Given the description of an element on the screen output the (x, y) to click on. 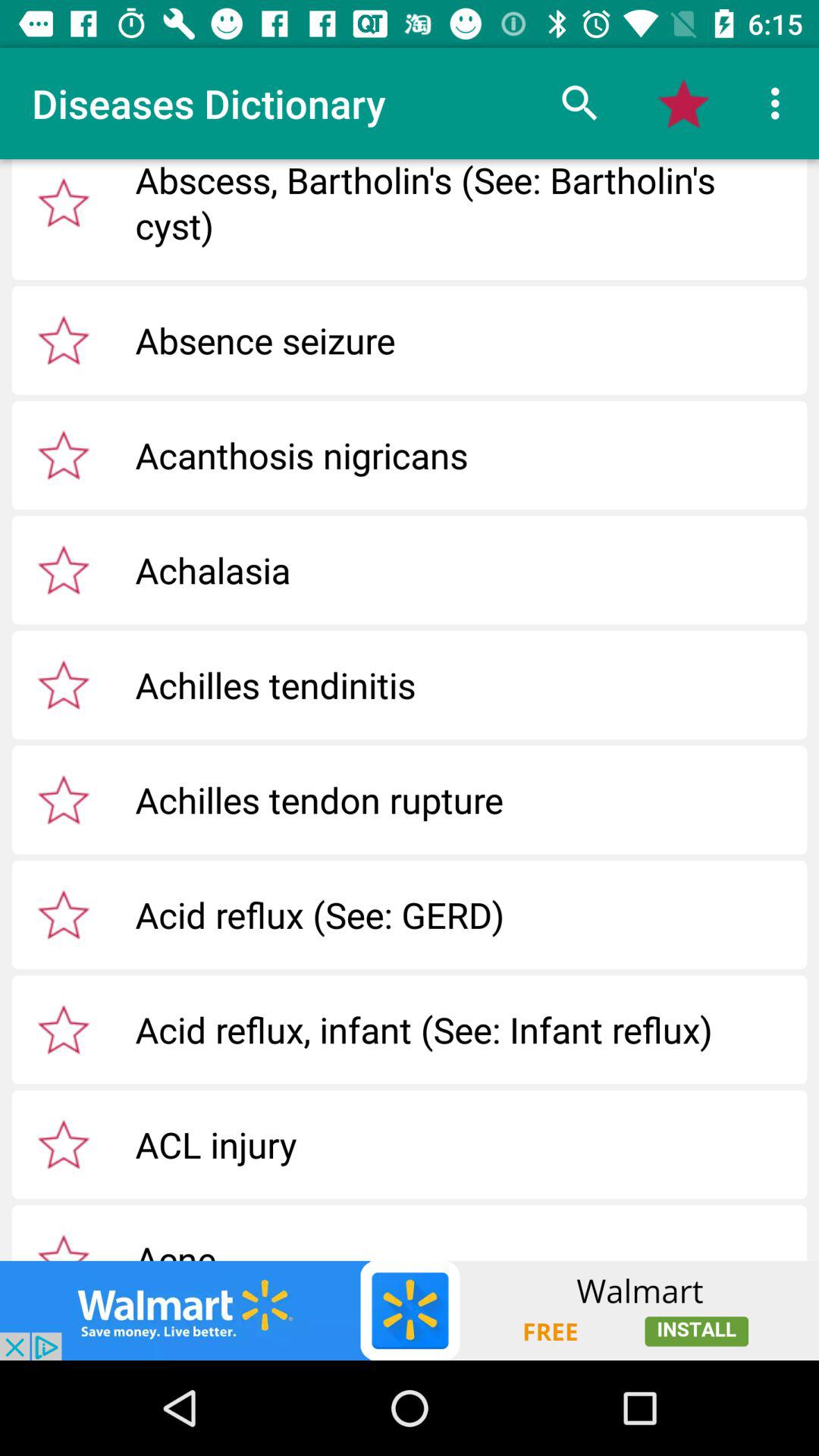
go to favorite (63, 684)
